Given the description of an element on the screen output the (x, y) to click on. 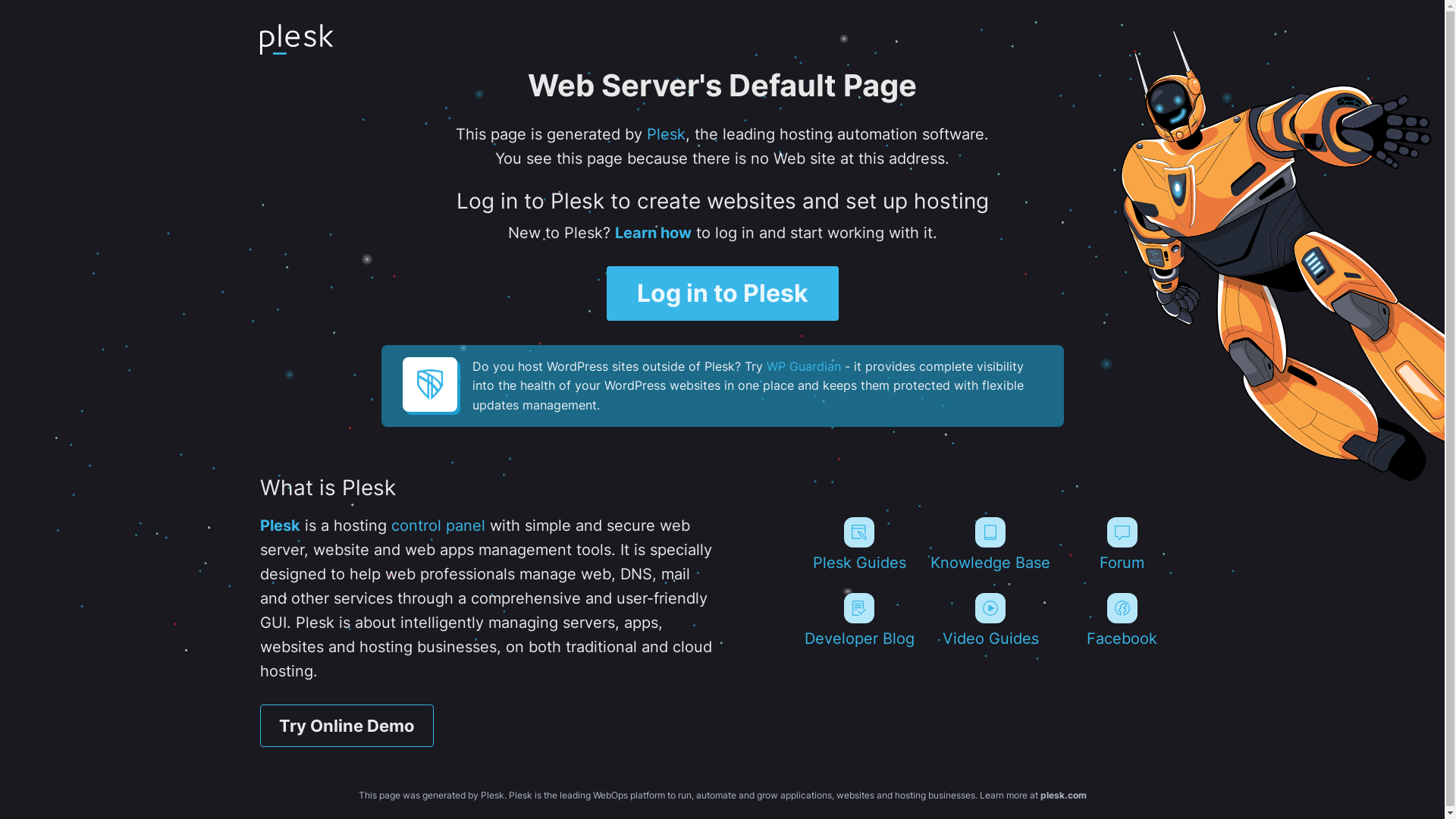
WP Guardian Element type: text (802, 365)
Try Online Demo Element type: text (346, 725)
control panel Element type: text (438, 525)
Developer Blog Element type: text (858, 620)
Knowledge Base Element type: text (990, 544)
Log in to Plesk Element type: text (722, 293)
plesk.com Element type: text (1063, 794)
Plesk Element type: text (665, 134)
Plesk Element type: text (279, 525)
Video Guides Element type: text (990, 620)
Learn how Element type: text (652, 232)
Facebook Element type: text (1121, 620)
Forum Element type: text (1121, 544)
Plesk Guides Element type: text (858, 544)
